Given the description of an element on the screen output the (x, y) to click on. 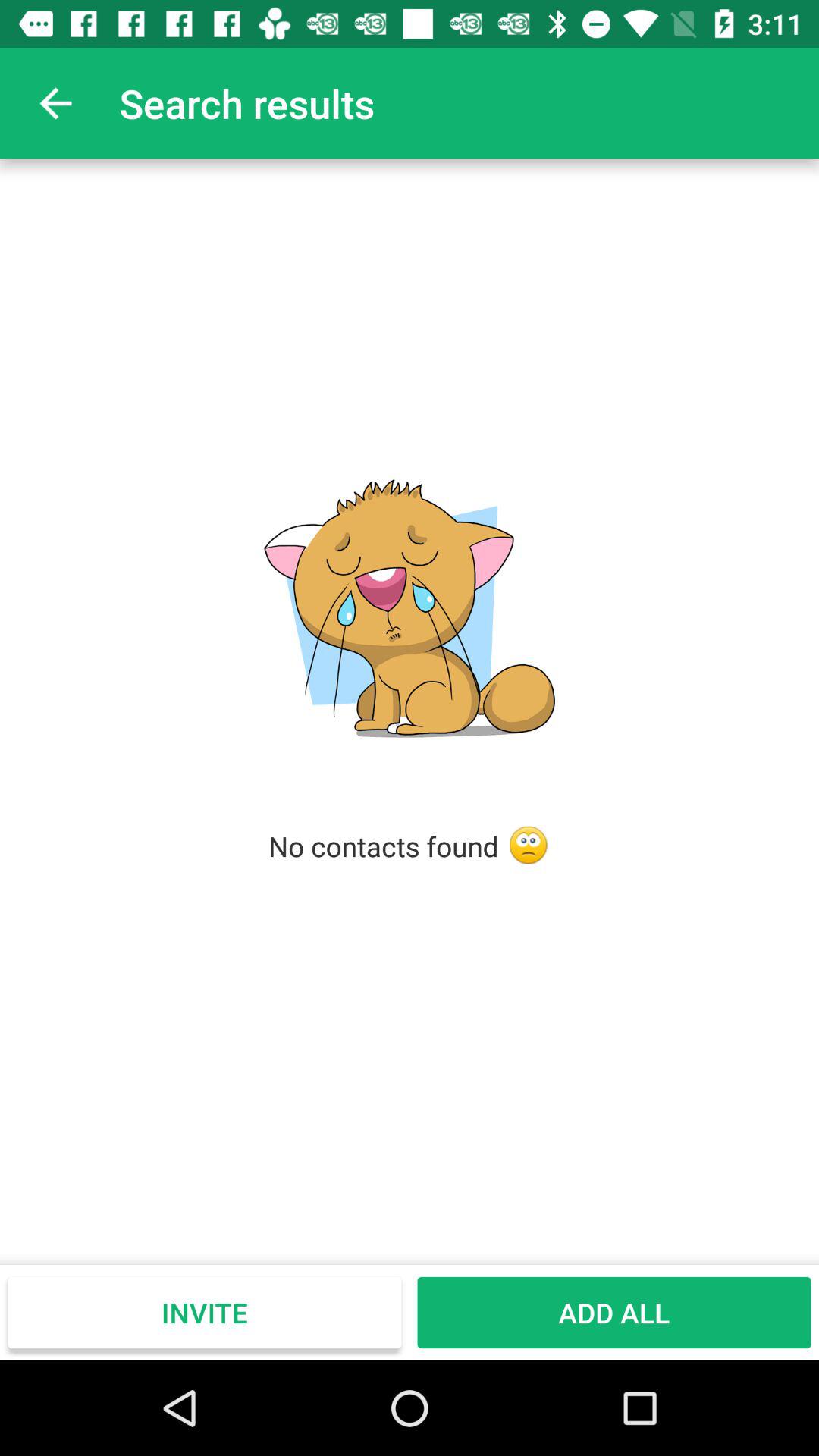
turn off item above no contacts found :( icon (55, 103)
